Given the description of an element on the screen output the (x, y) to click on. 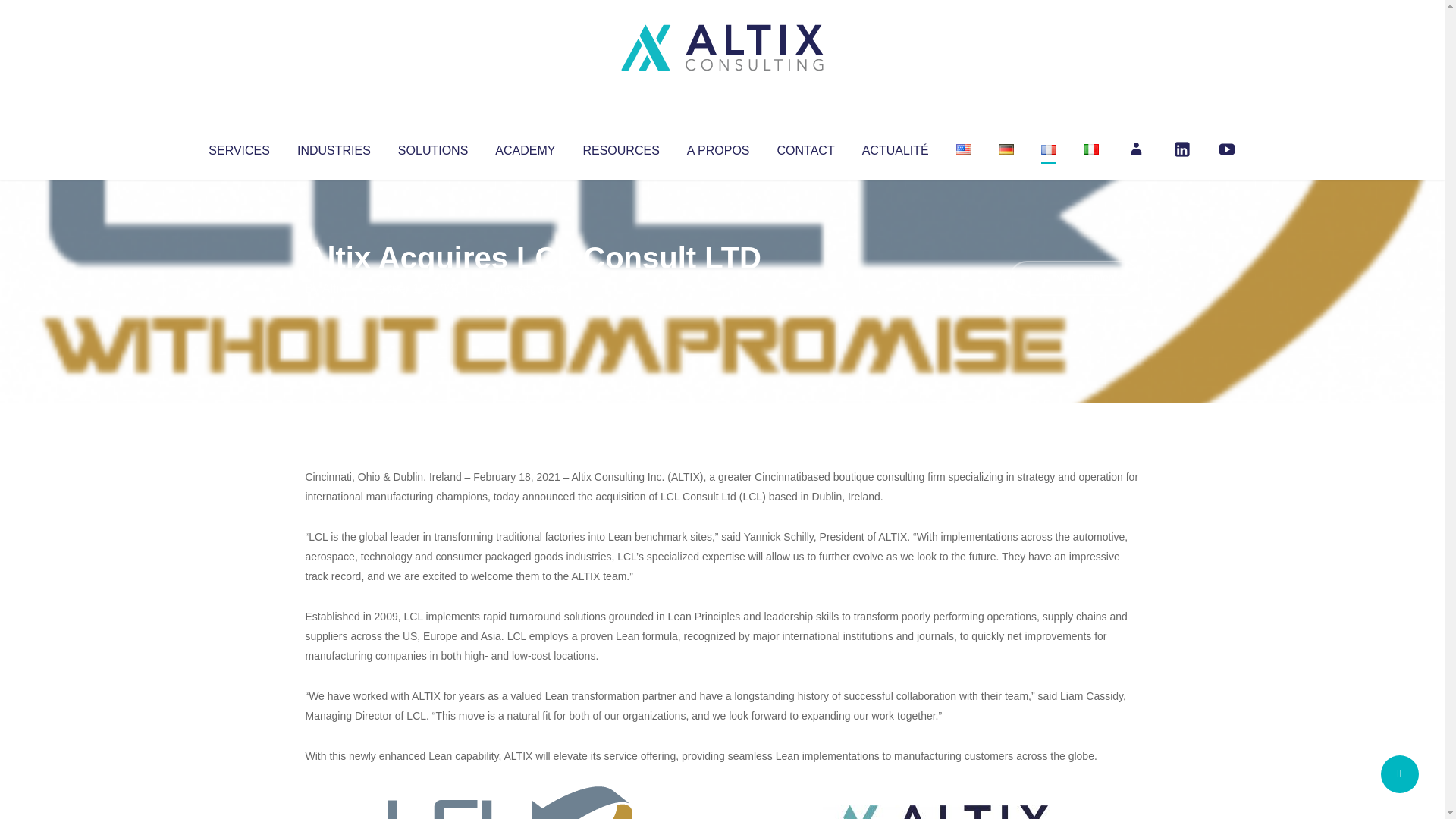
Uncategorized (530, 287)
Altix (333, 287)
SOLUTIONS (432, 146)
RESOURCES (620, 146)
No Comments (1073, 278)
ACADEMY (524, 146)
INDUSTRIES (334, 146)
A PROPOS (718, 146)
Articles par Altix (333, 287)
SERVICES (238, 146)
